Given the description of an element on the screen output the (x, y) to click on. 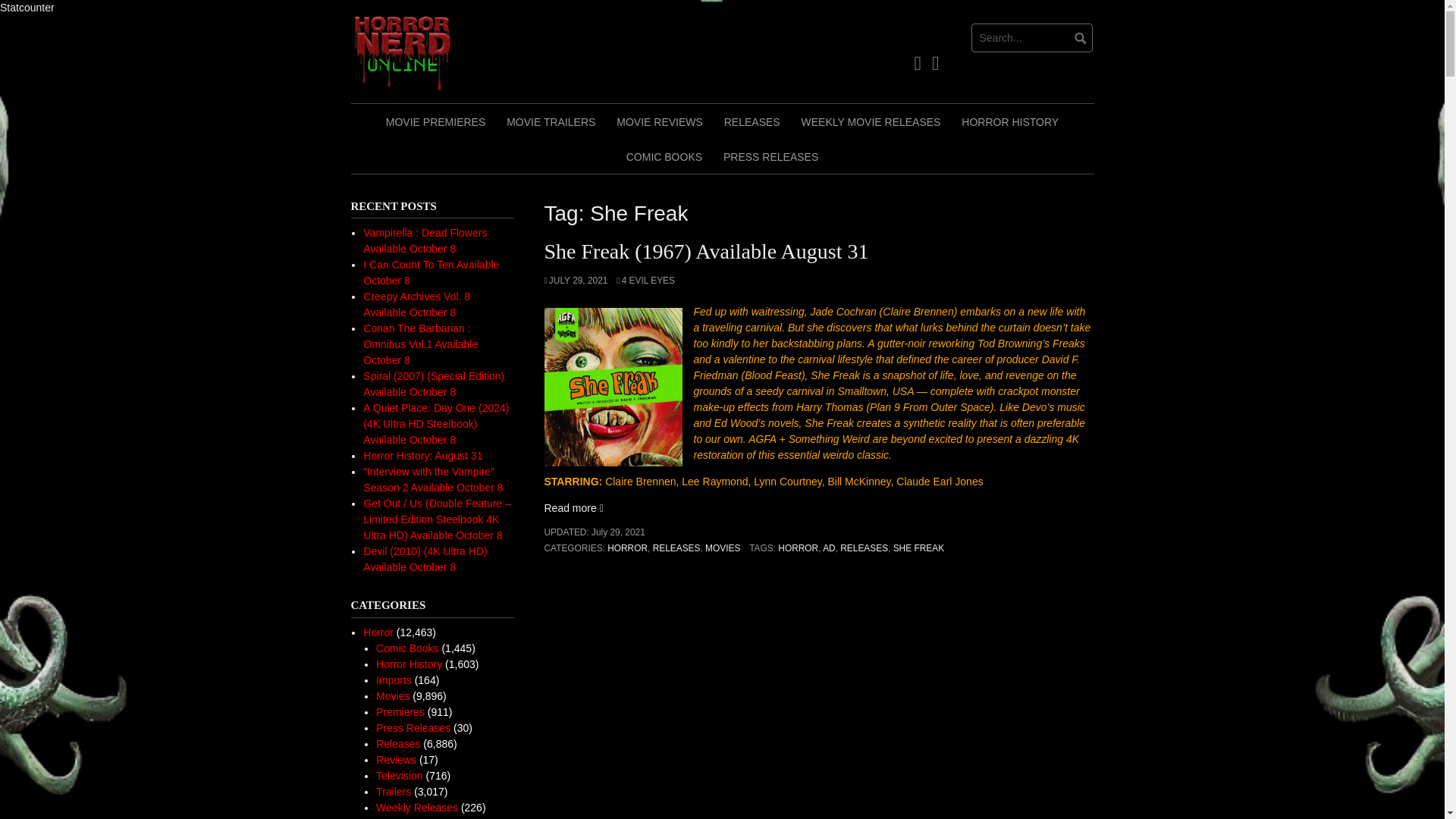
MOVIES (721, 547)
WEEKLY MOVIE RELEASES (871, 121)
MOVIE PREMIERES (436, 121)
RELEASES (864, 547)
HORROR (797, 547)
Horror History (408, 664)
Horror History: August 31 (421, 455)
4 EVIL EYES (645, 280)
AD (828, 547)
Search for: (1031, 37)
